Given the description of an element on the screen output the (x, y) to click on. 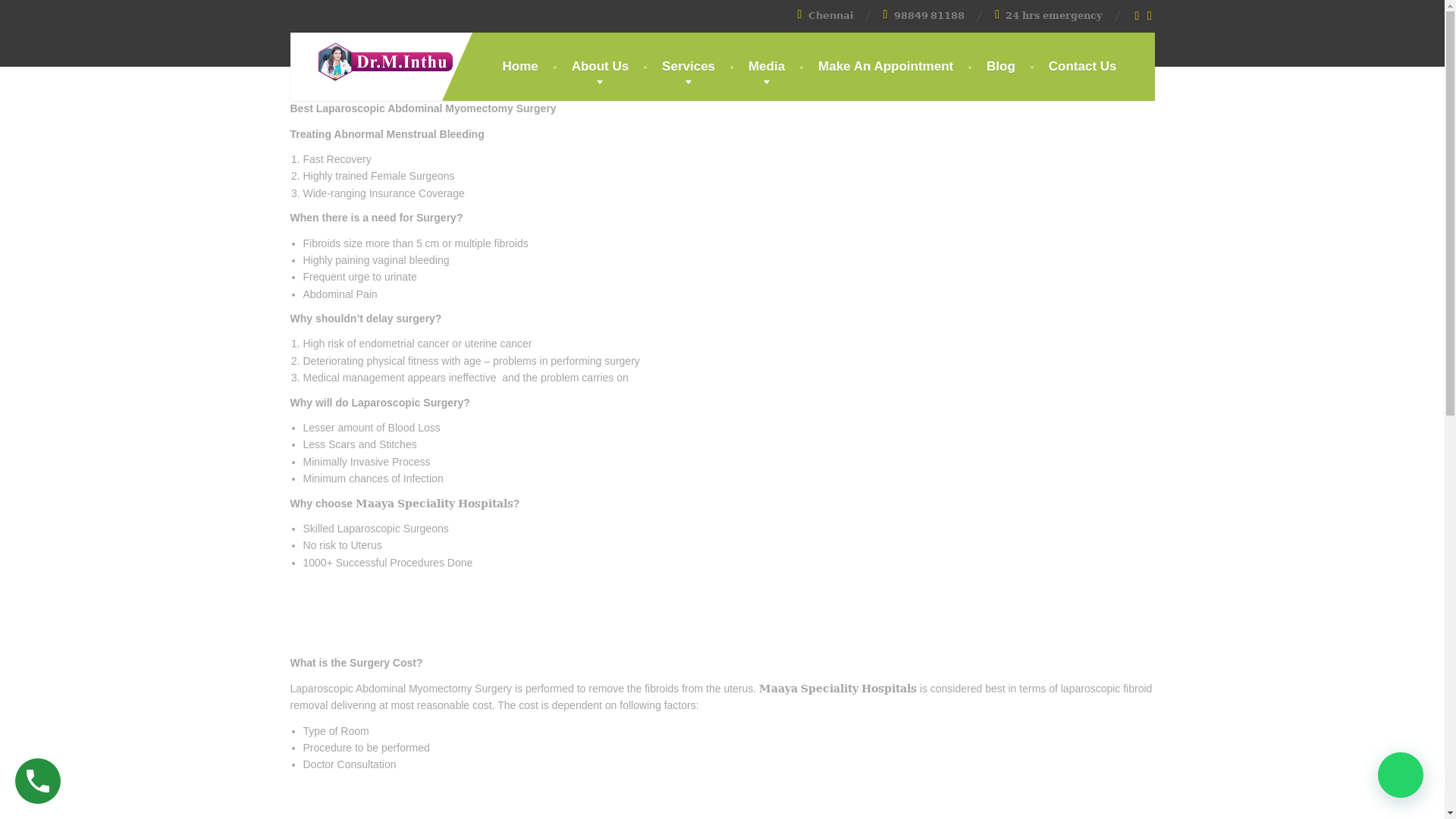
Home (520, 66)
Services (688, 66)
Media (766, 66)
About Us (600, 66)
Make An Appointment (885, 66)
Best Gynecologist In Chennai (373, 56)
